Given the description of an element on the screen output the (x, y) to click on. 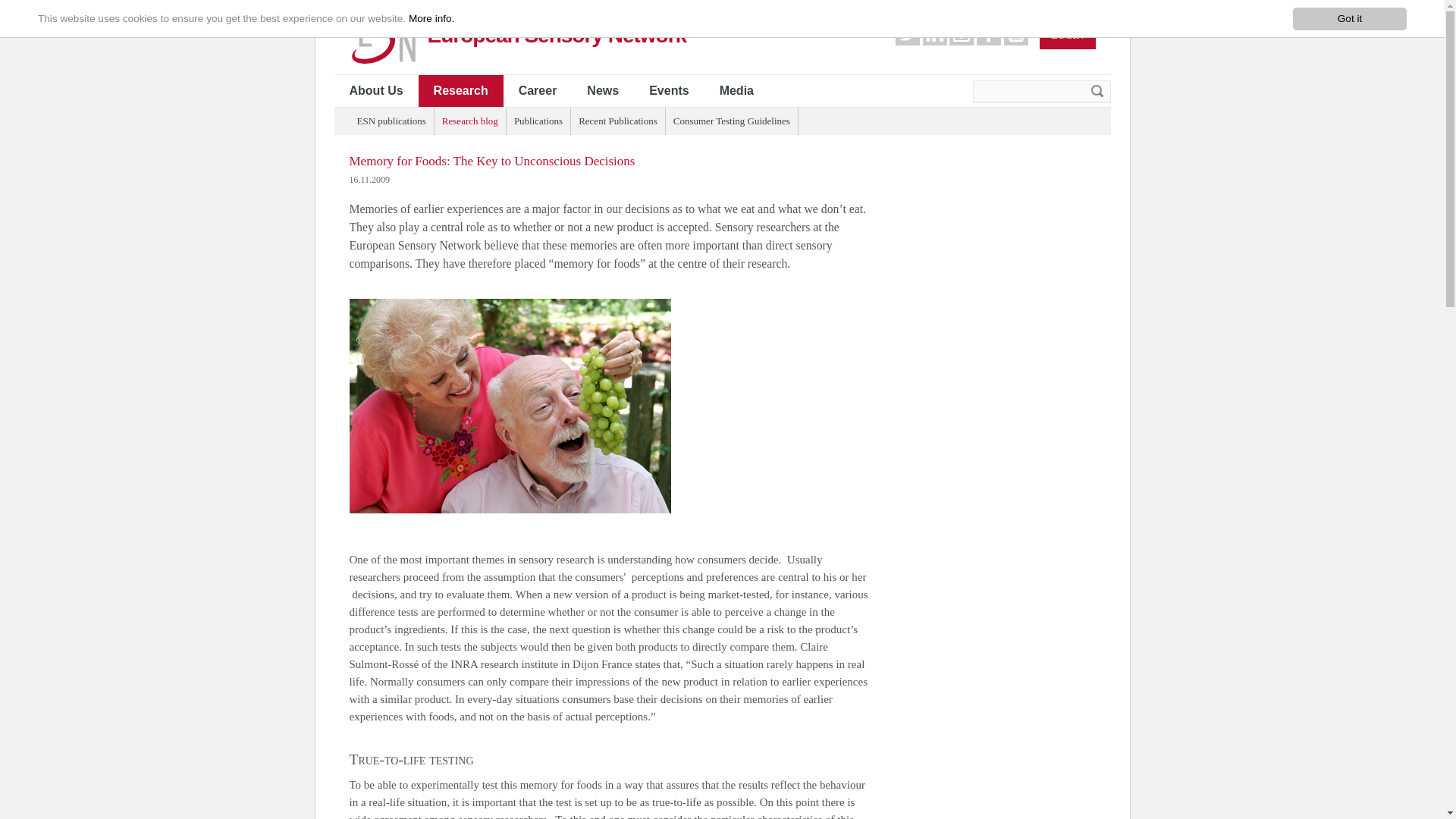
Research (461, 91)
youtubegrey.jpg (1015, 33)
linkedin (935, 41)
in.jpg (935, 33)
Media (736, 91)
Events (668, 91)
linkedin (1015, 41)
LOGIN (1067, 35)
linkedin (907, 41)
Recent Publications (618, 121)
